Given the description of an element on the screen output the (x, y) to click on. 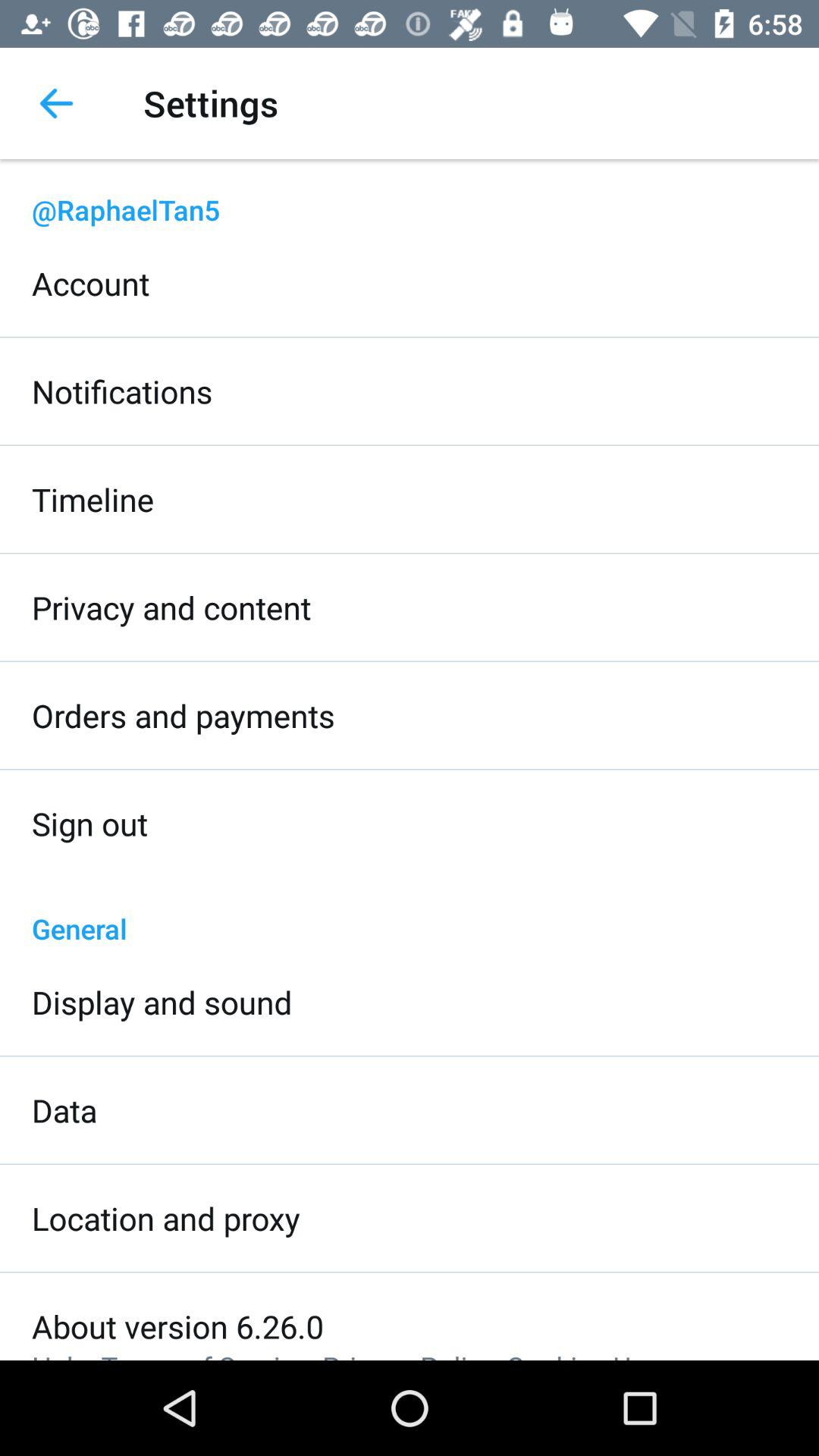
tap item above the display and sound (409, 912)
